Given the description of an element on the screen output the (x, y) to click on. 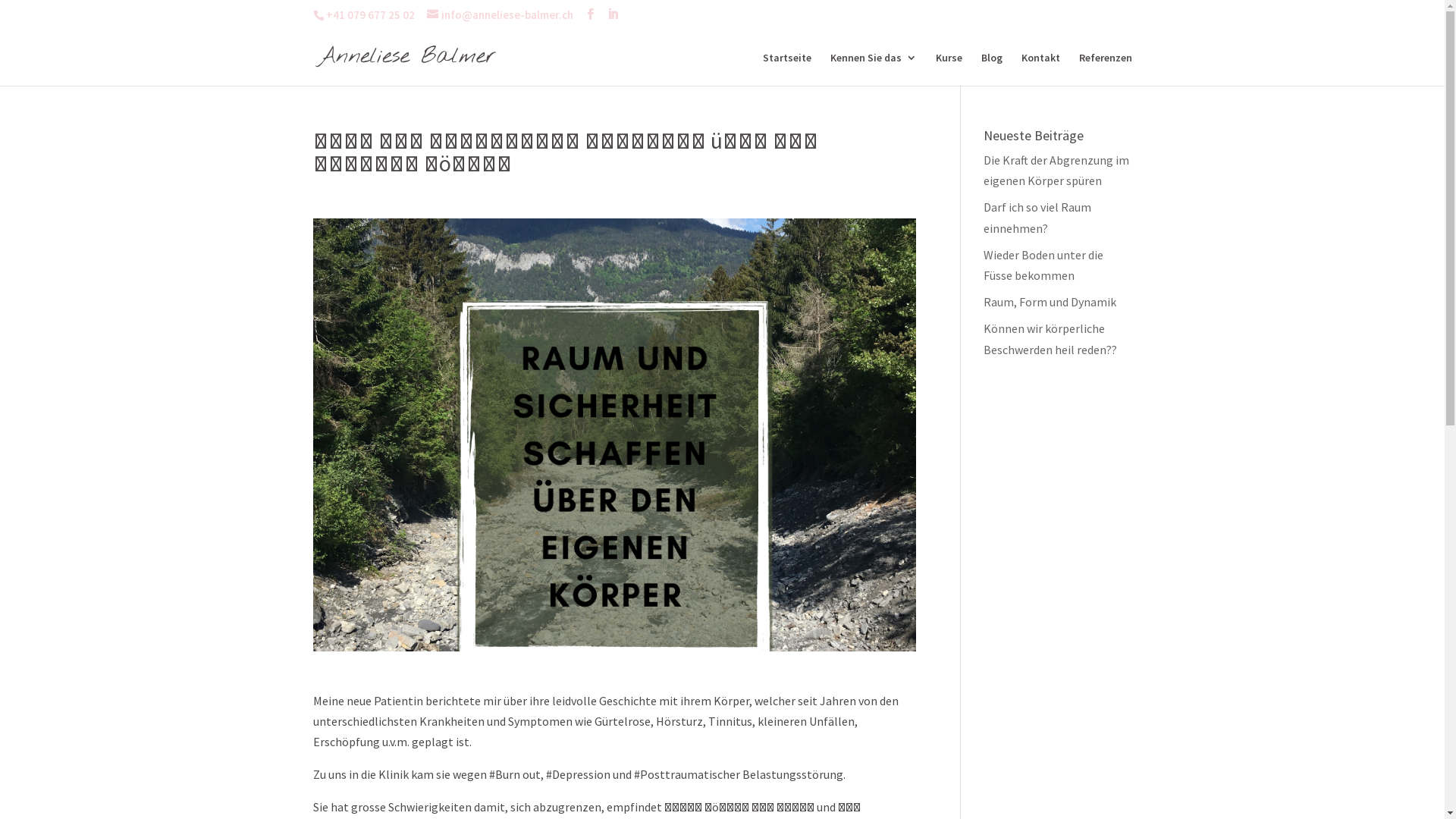
Blog Element type: text (991, 67)
Kennen Sie das Element type: text (872, 67)
Kurse Element type: text (948, 67)
Startseite Element type: text (786, 67)
Darf ich so viel Raum einnehmen? Element type: text (1037, 217)
Referenzen Element type: text (1104, 67)
Raum, Form und Dynamik Element type: text (1049, 301)
Kontakt Element type: text (1039, 67)
info@anneliese-balmer.ch Element type: text (499, 14)
